Given the description of an element on the screen output the (x, y) to click on. 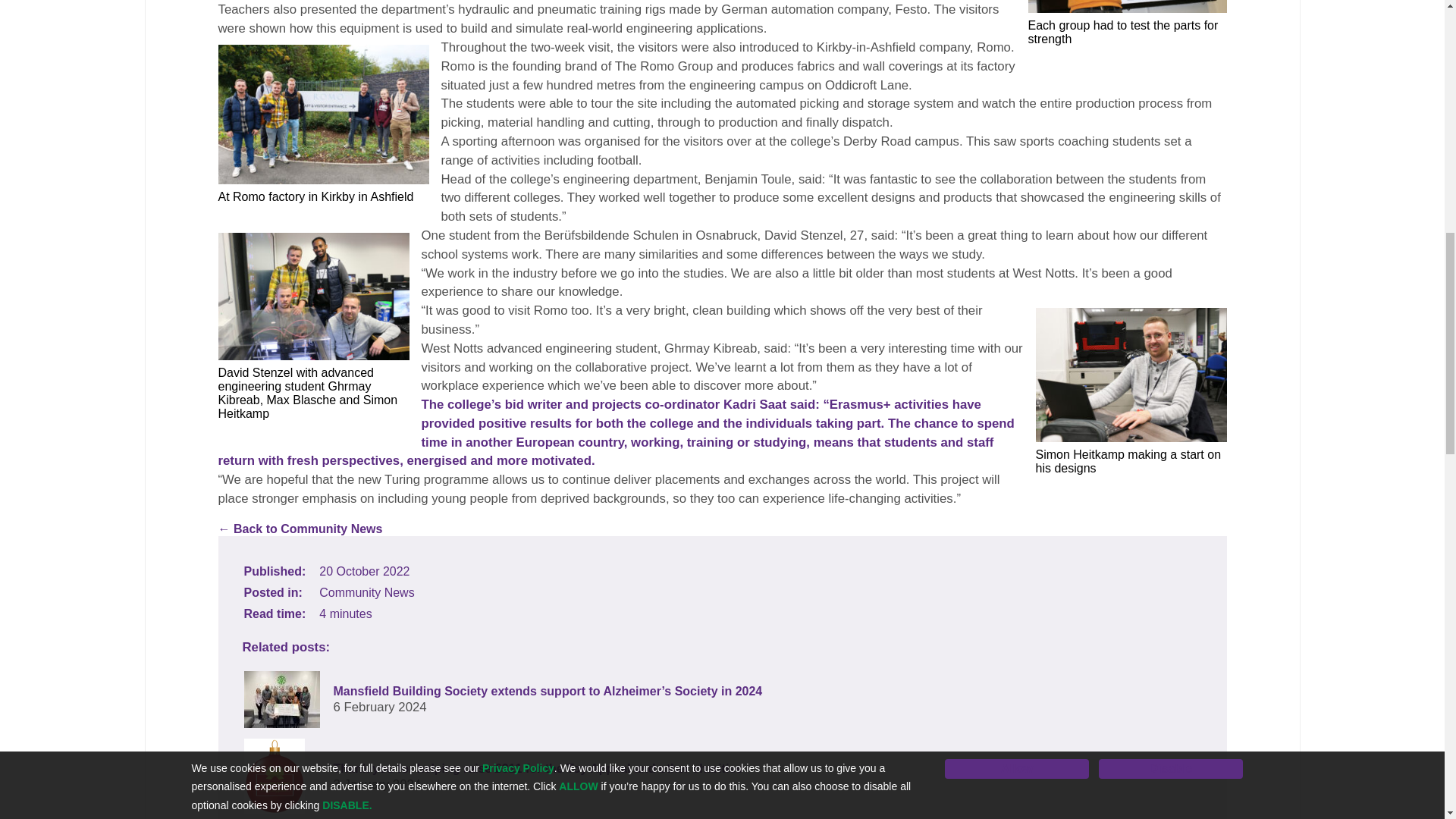
Community News (365, 592)
